Given the description of an element on the screen output the (x, y) to click on. 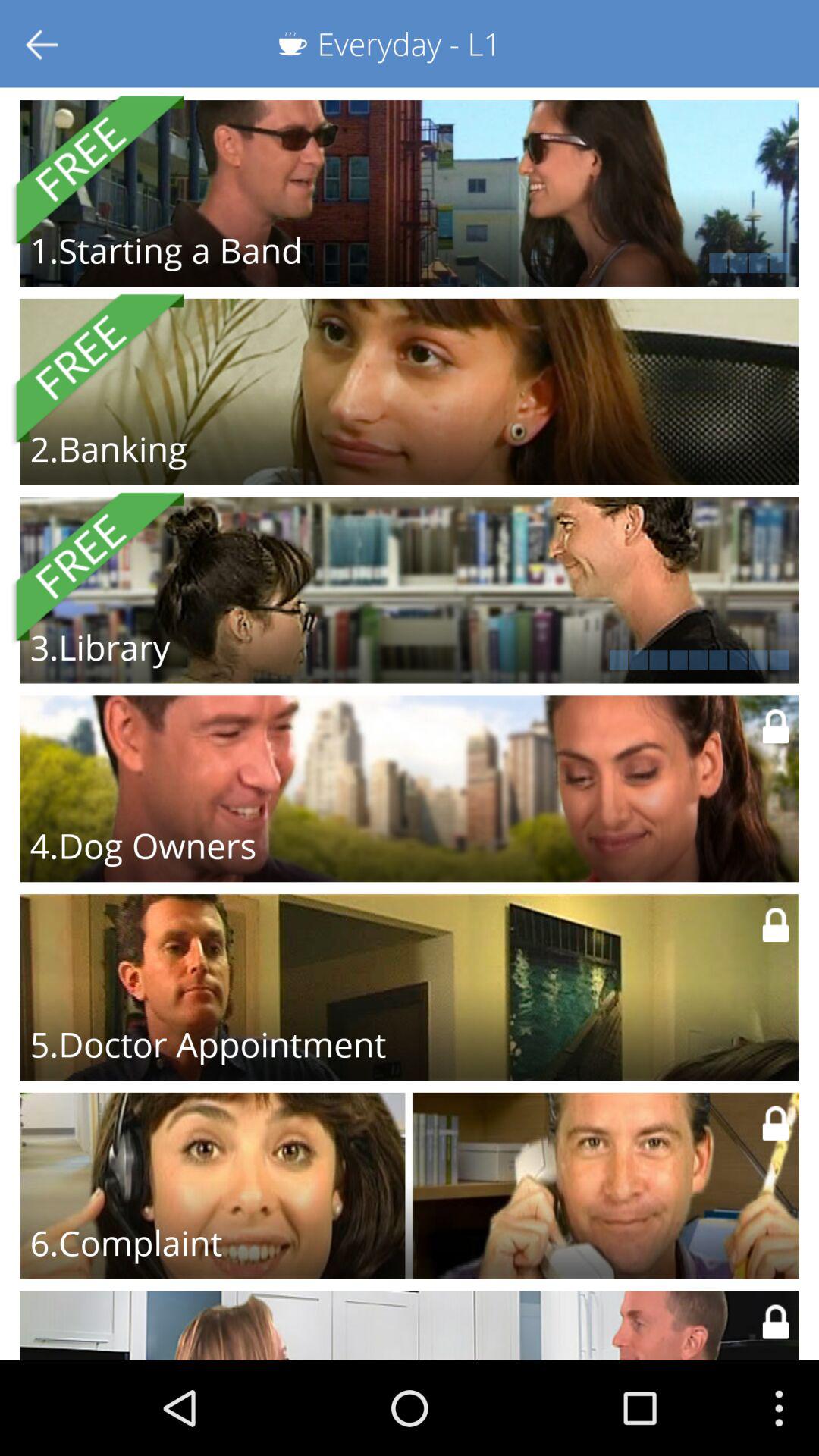
jump to the 4.dog owners icon (143, 845)
